Given the description of an element on the screen output the (x, y) to click on. 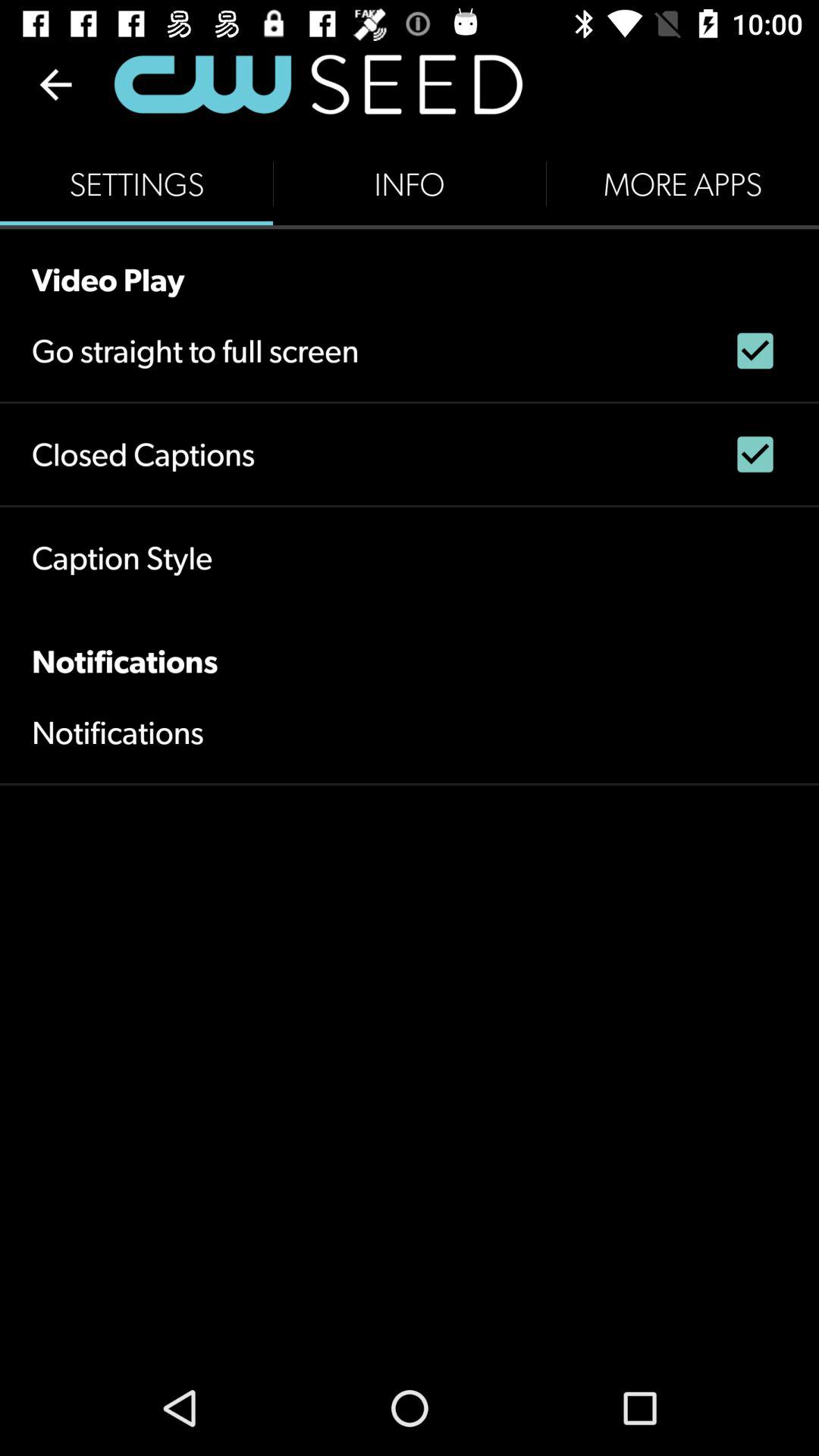
launch the icon next to the more apps (409, 184)
